Given the description of an element on the screen output the (x, y) to click on. 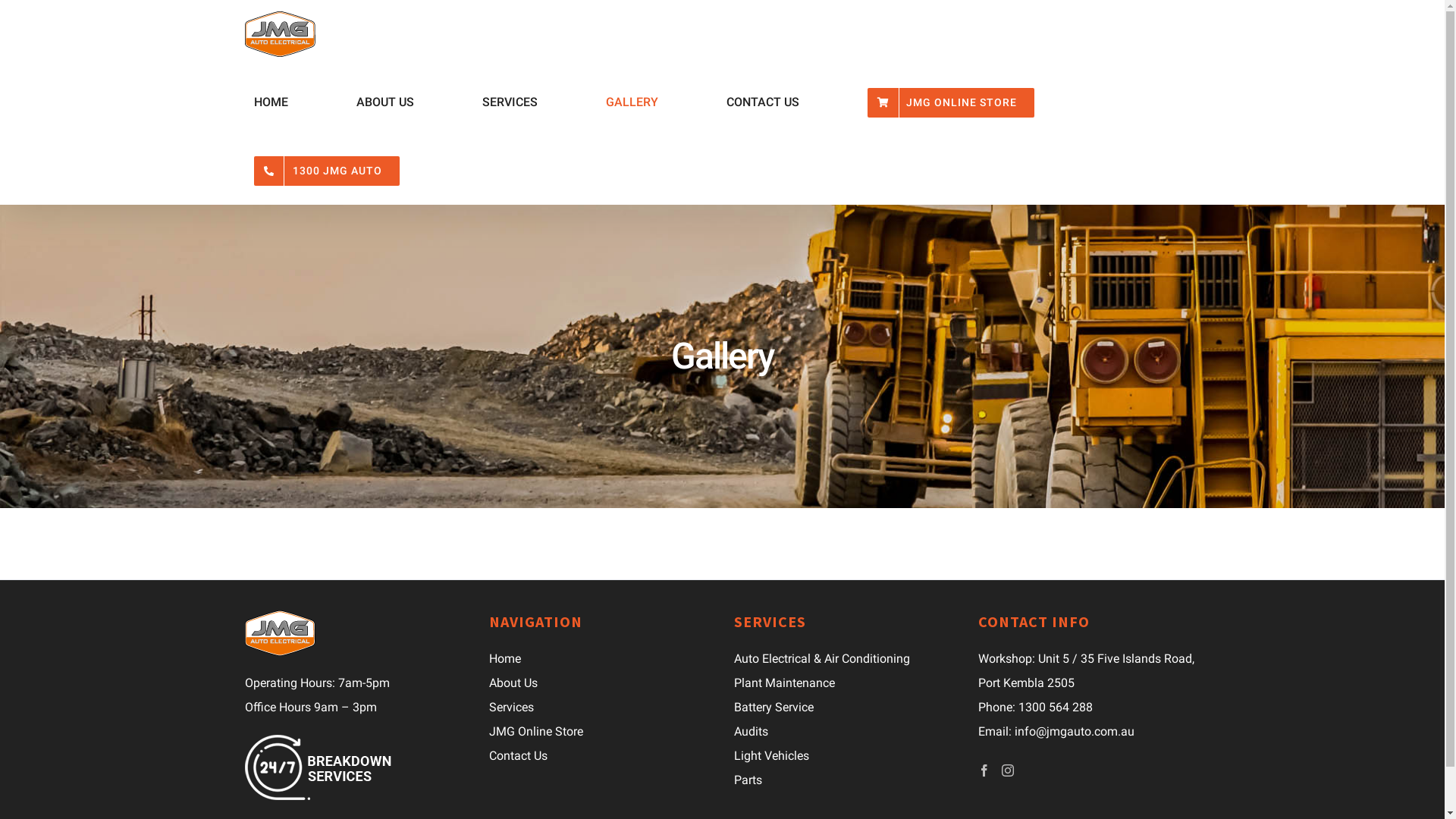
Audits Element type: text (845, 731)
Plant Maintenance Element type: text (845, 683)
Light Vehicles Element type: text (845, 755)
SERVICES Element type: text (510, 102)
CONTACT US Element type: text (763, 102)
JMG Online Store Element type: text (600, 731)
GALLERY Element type: text (631, 102)
1300 564 288 Element type: text (1055, 706)
ABOUT US Element type: text (385, 102)
Parts Element type: text (845, 780)
Home Element type: text (600, 658)
JMG ONLINE STORE Element type: text (951, 102)
Services Element type: text (600, 707)
About Us Element type: text (600, 683)
HOME Element type: text (270, 102)
Auto Electrical & Air Conditioning Element type: text (845, 658)
info@jmgauto.com.au Element type: text (1074, 731)
Battery Service Element type: text (845, 707)
1300 JMG AUTO Element type: text (326, 170)
Contact Us Element type: text (600, 755)
